Given the description of an element on the screen output the (x, y) to click on. 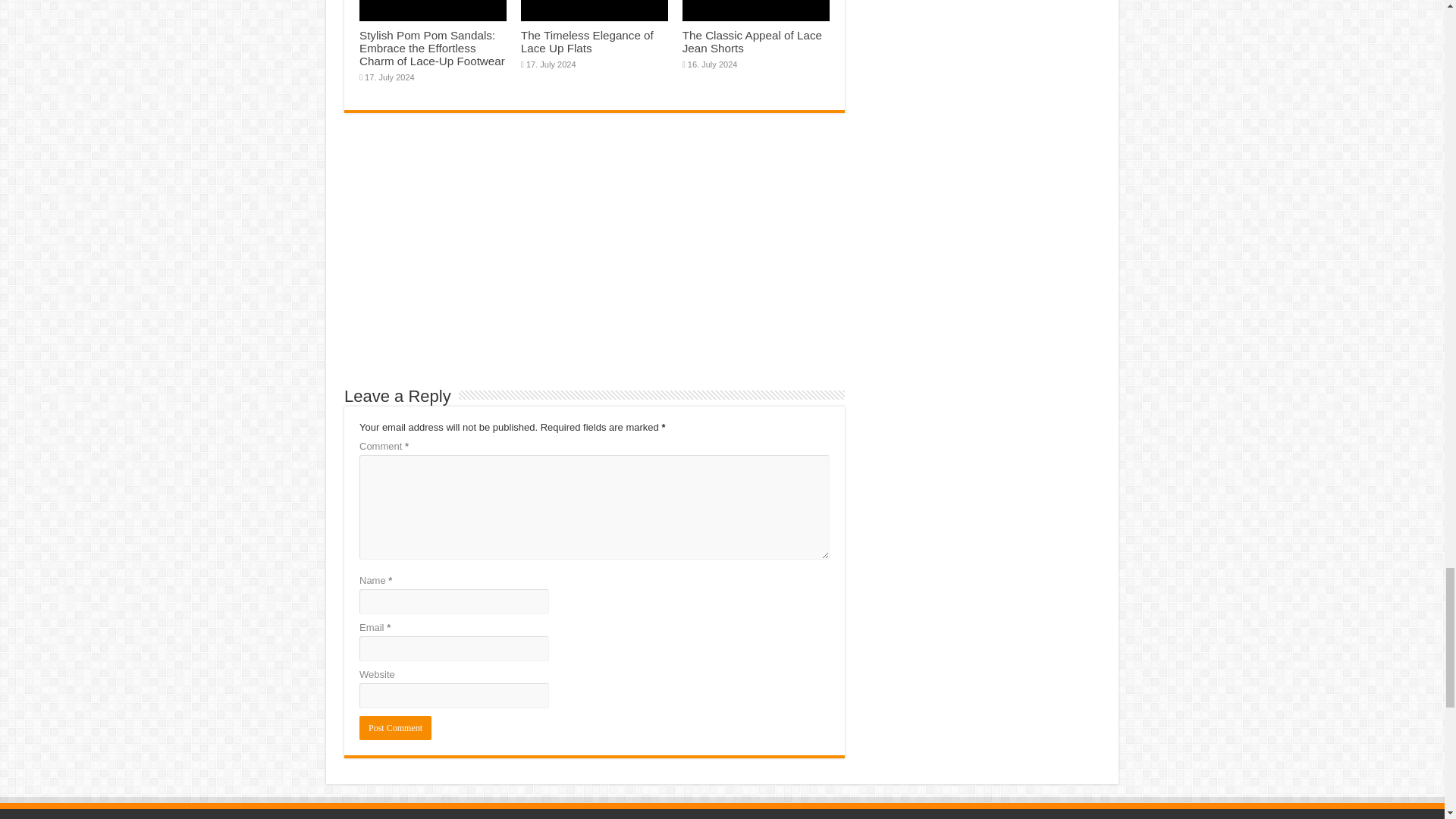
The Timeless Elegance of Lace Up Flats (587, 41)
The Classic Appeal of Lace Jean Shorts (752, 41)
Post Comment (394, 727)
Post Comment (394, 727)
